Given the description of an element on the screen output the (x, y) to click on. 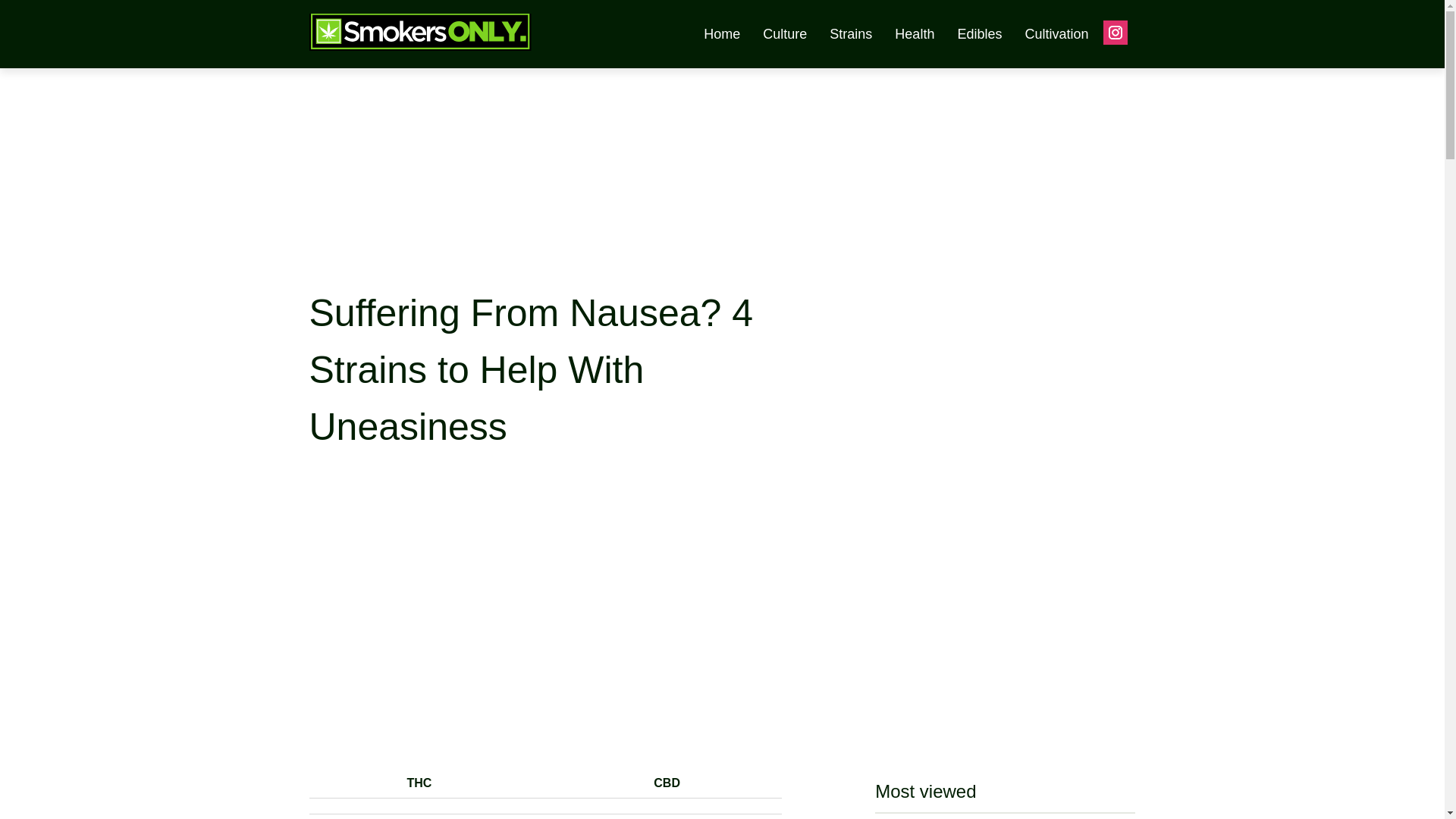
Cultivation (1056, 33)
Smokers ONLY (441, 43)
